Given the description of an element on the screen output the (x, y) to click on. 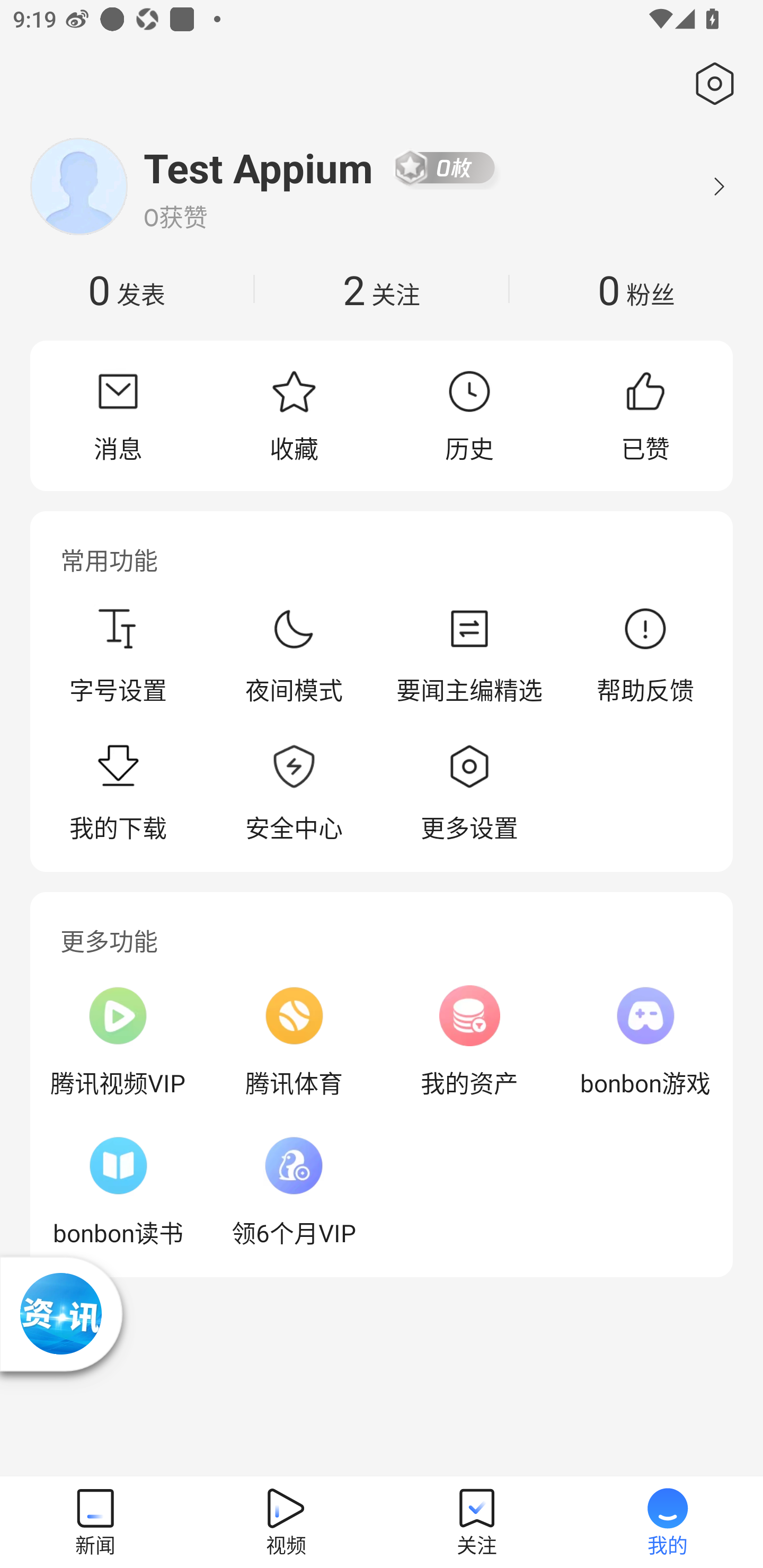
设置，可点击 (711, 83)
头像，可点击 (78, 186)
用户：Test Appium，可点击 (258, 167)
0枚勋章，可点击 (444, 167)
0发表，可点击 (126, 288)
2关注，可点击 (381, 288)
0粉丝，可点击 (636, 288)
消息，可点击 (118, 415)
收藏，可点击 (293, 415)
历史，可点击 (469, 415)
已赞，可点击 (644, 415)
字号设置，可点击 (118, 655)
夜间模式，可点击 (293, 655)
要闻主编精选，可点击 (469, 655)
帮助反馈，可点击 (644, 655)
我的下载，可点击 (118, 793)
安全中心，可点击 (293, 793)
更多设置，可点击 (469, 793)
腾讯视频VIP，可点击 (118, 1041)
腾讯体育，可点击 (293, 1041)
我的资产，可点击 (469, 1041)
bonbon游戏，可点击 (644, 1041)
bonbon读书，可点击 (118, 1191)
领6个月VIP，可点击 (293, 1191)
播放器 (61, 1313)
